Given the description of an element on the screen output the (x, y) to click on. 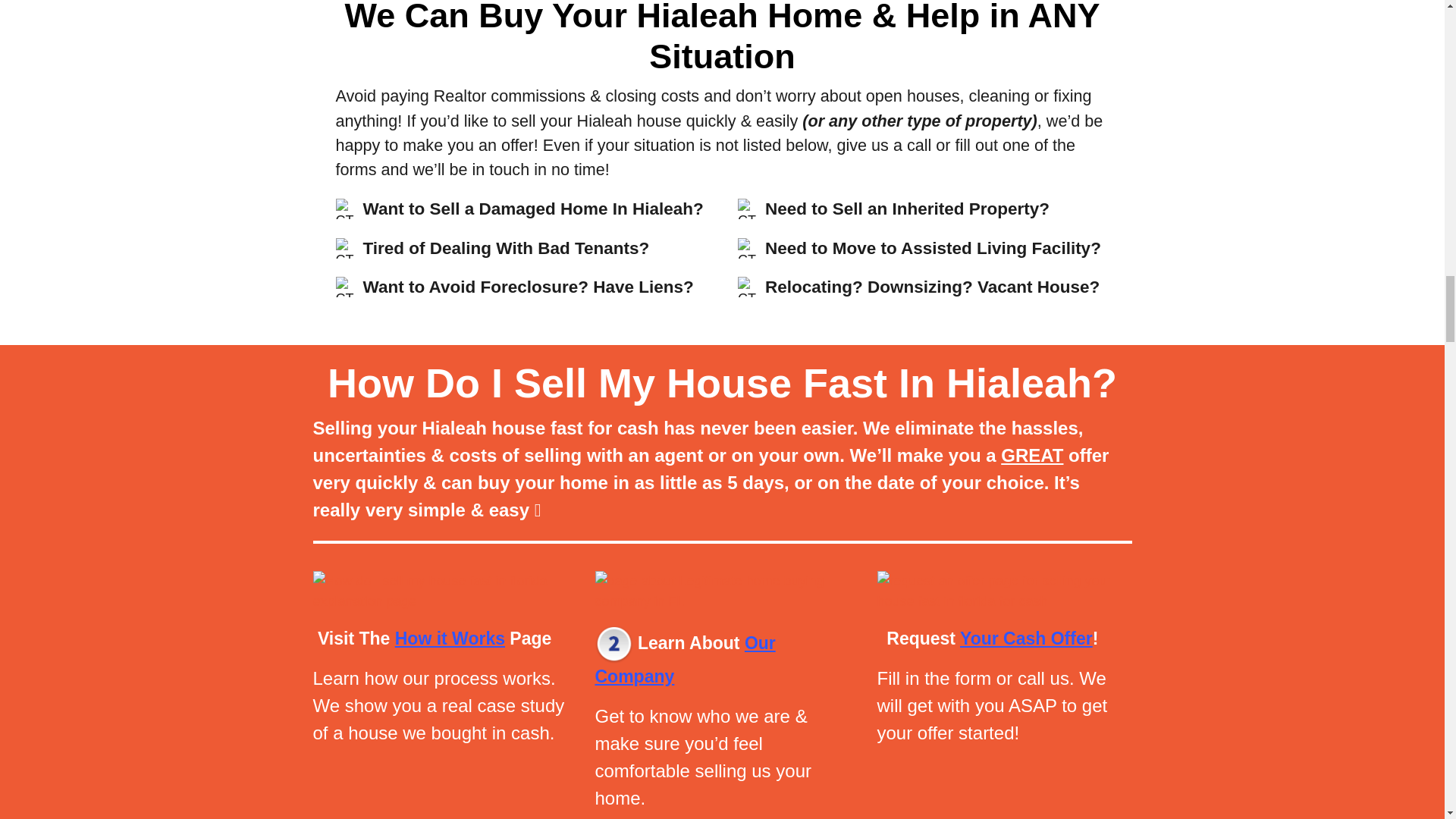
Our Company (684, 659)
How it Works Page (472, 638)
Your Cash Offer (1026, 638)
